Given the description of an element on the screen output the (x, y) to click on. 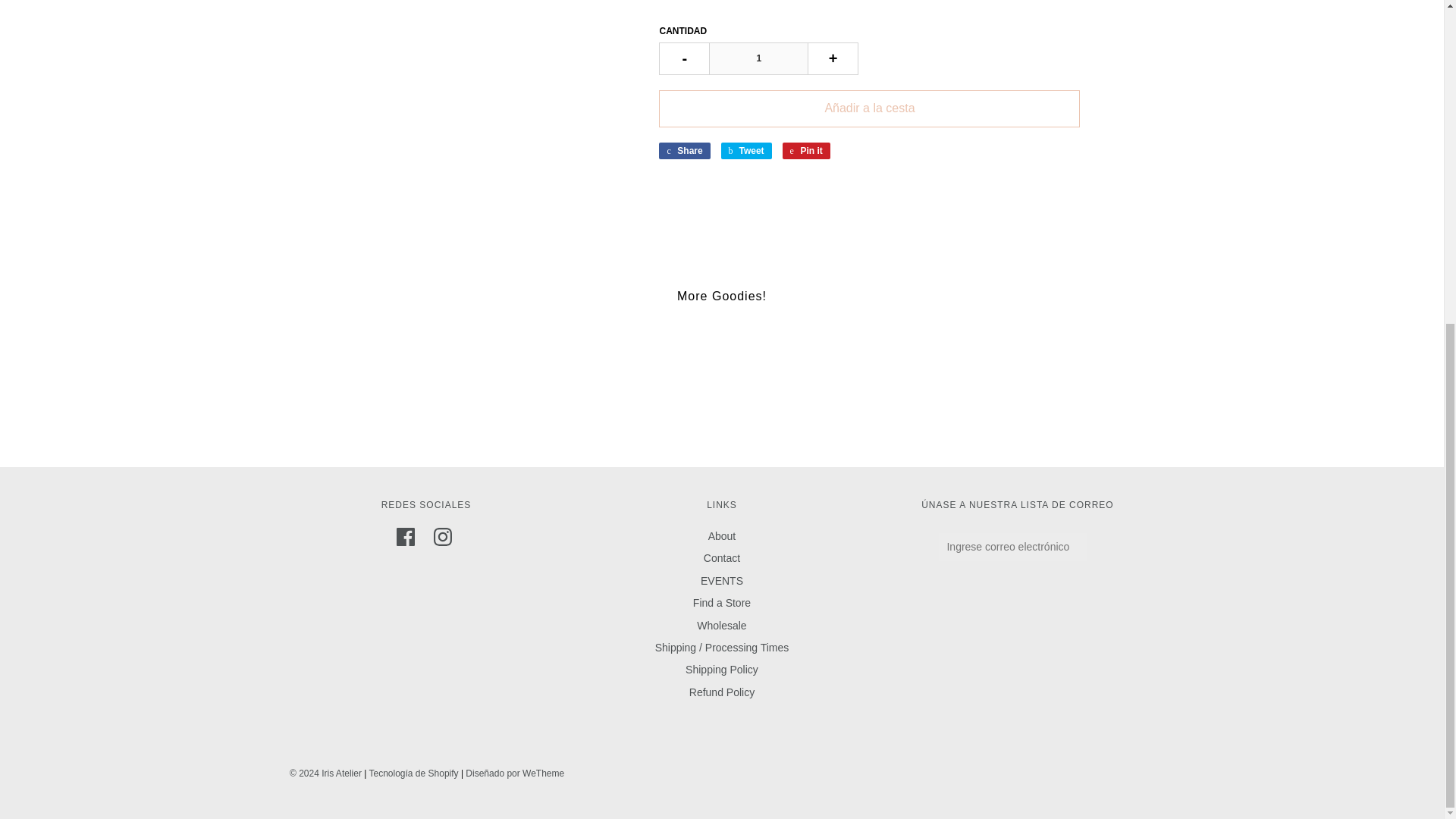
1 (758, 58)
Instagram icon (442, 536)
Designed by WeTheme (514, 773)
Facebook icon (405, 536)
